Given the description of an element on the screen output the (x, y) to click on. 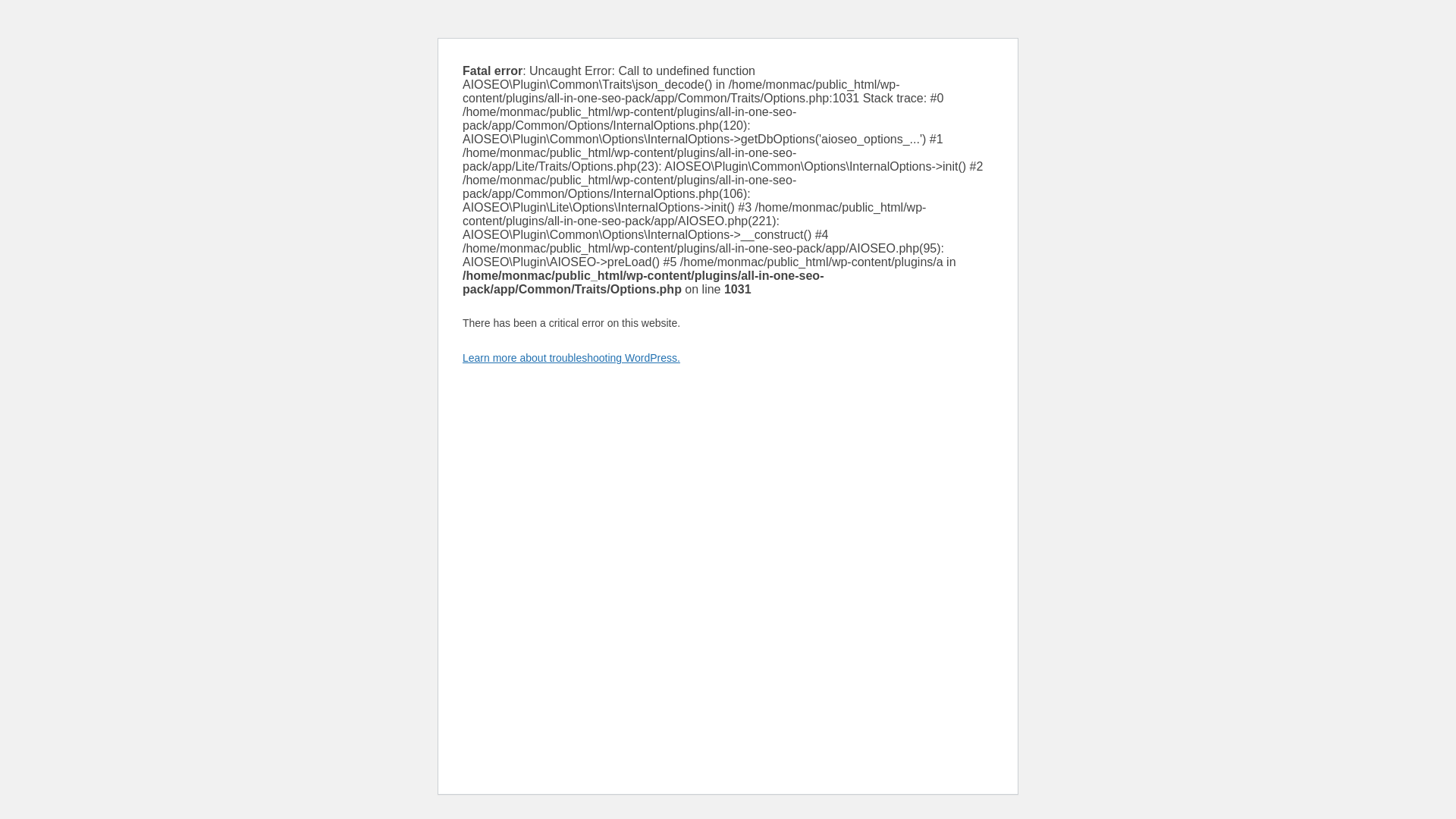
Learn more about troubleshooting WordPress. (571, 357)
